Given the description of an element on the screen output the (x, y) to click on. 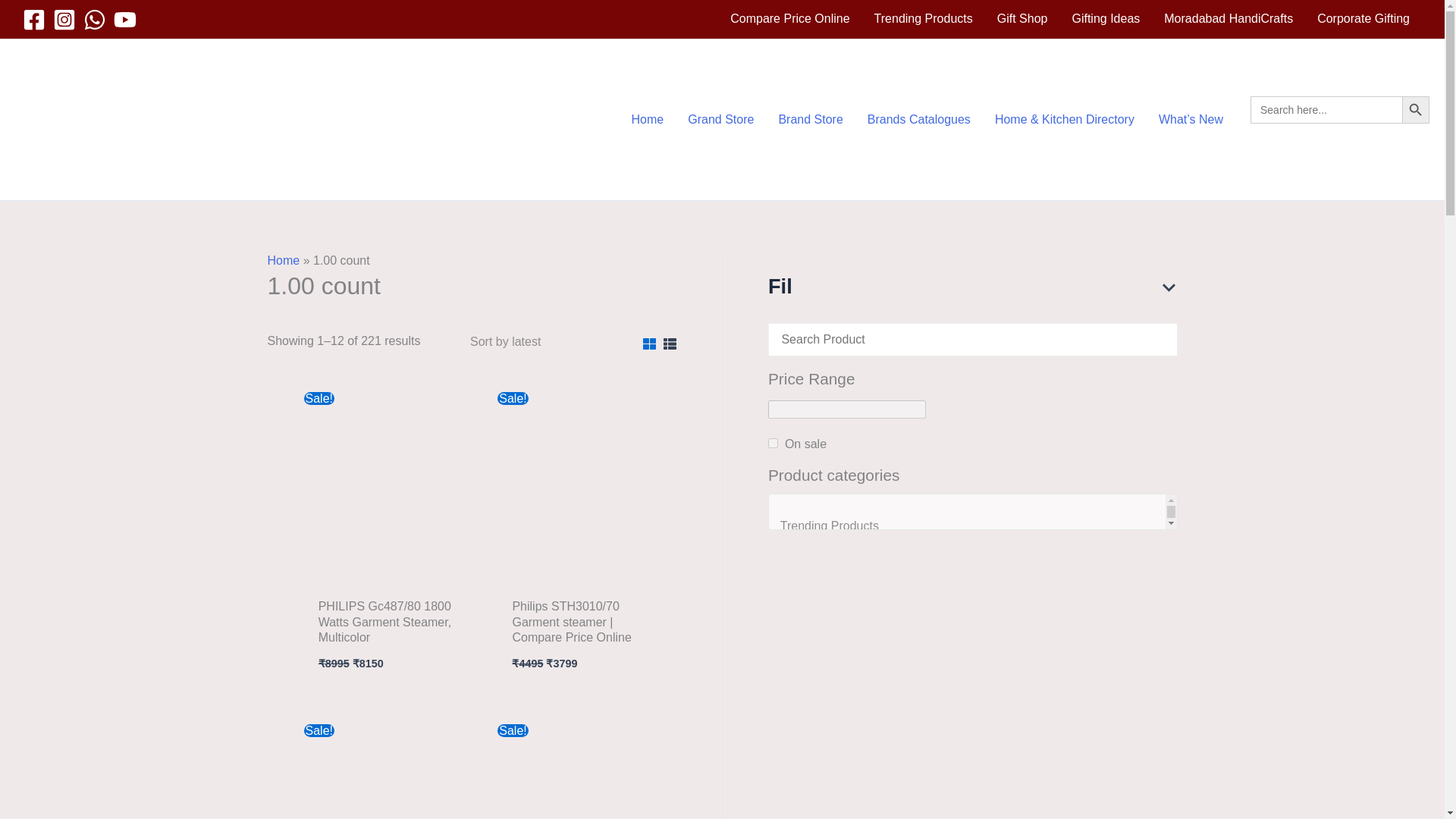
Home (648, 119)
Home (282, 259)
Corporate Gifting (1363, 18)
Moradabad HandiCrafts (1227, 18)
Compare Price Online (789, 18)
Trending Products (923, 18)
Search (1339, 132)
0 (772, 442)
Gifting Ideas (1105, 18)
Search Button (1415, 109)
Gift Shop (1022, 18)
Brand Store (809, 119)
Brands Catalogues (919, 119)
Grand Store (720, 119)
